Given the description of an element on the screen output the (x, y) to click on. 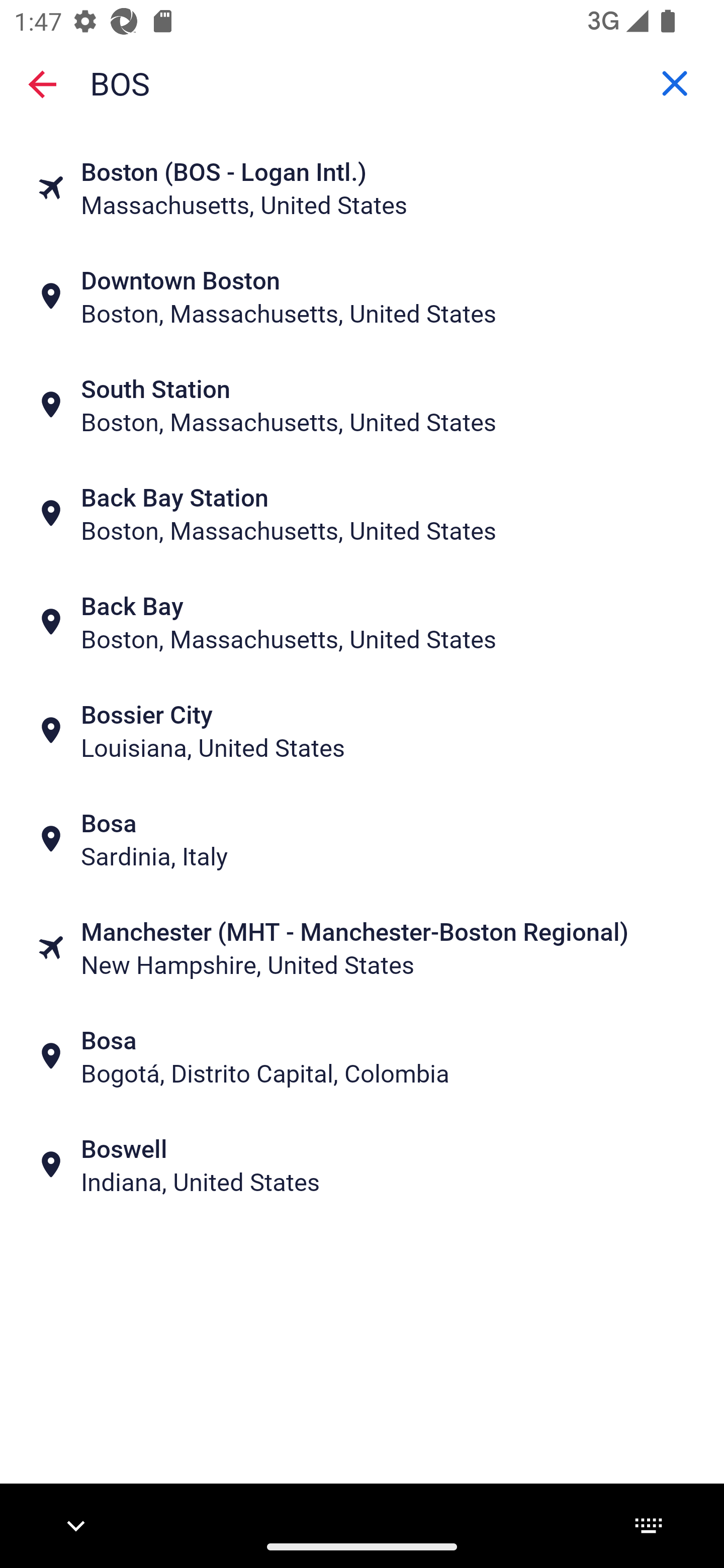
Close search screen (42, 84)
Clear Pick-up (674, 82)
Pick-up, BOS (361, 82)
Bosa Bosa Sardinia, Italy Sardinia, Italy Button (362, 838)
